Given the description of an element on the screen output the (x, y) to click on. 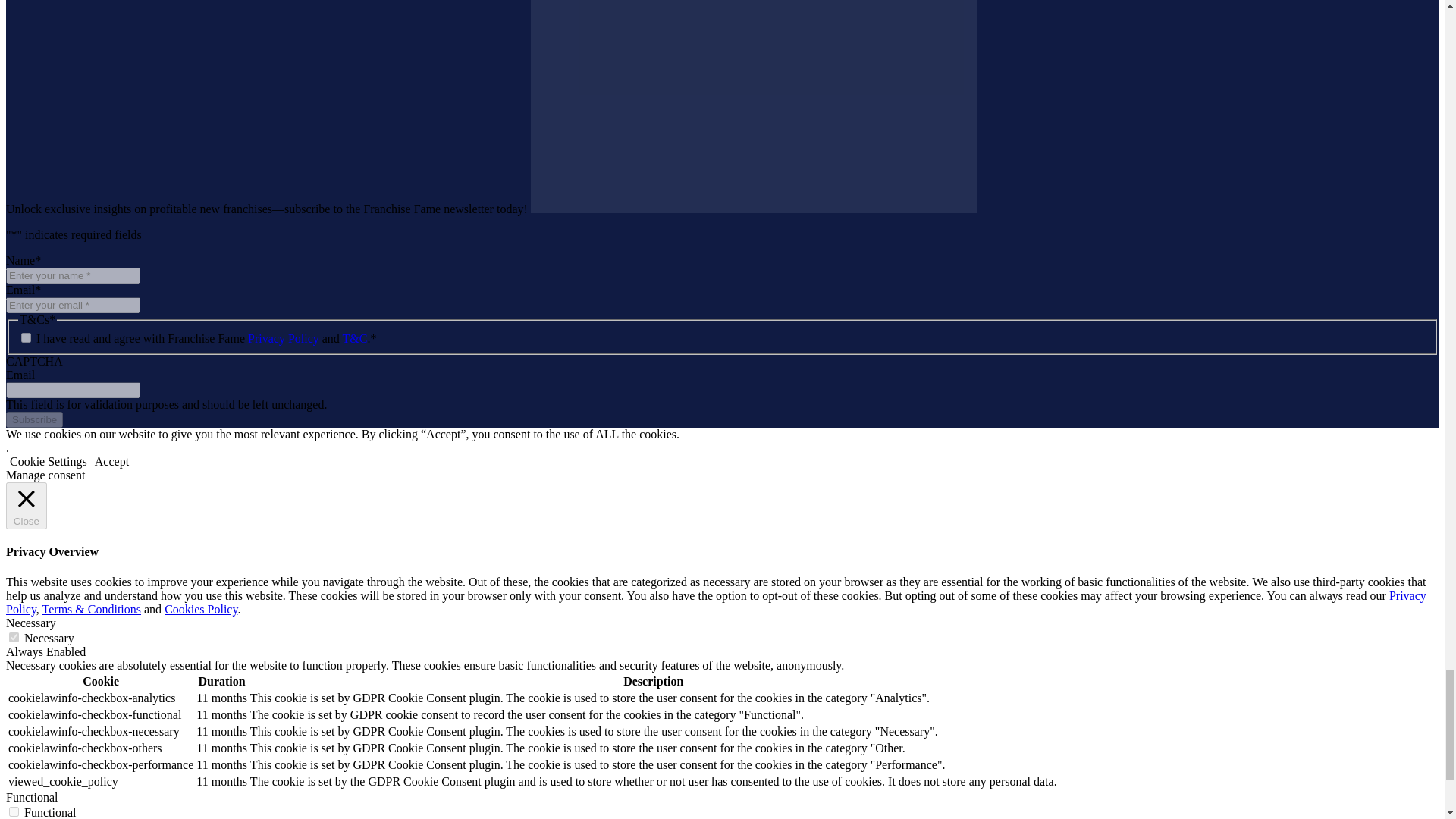
on (13, 637)
Subscribe (33, 419)
1 (25, 337)
